Given the description of an element on the screen output the (x, y) to click on. 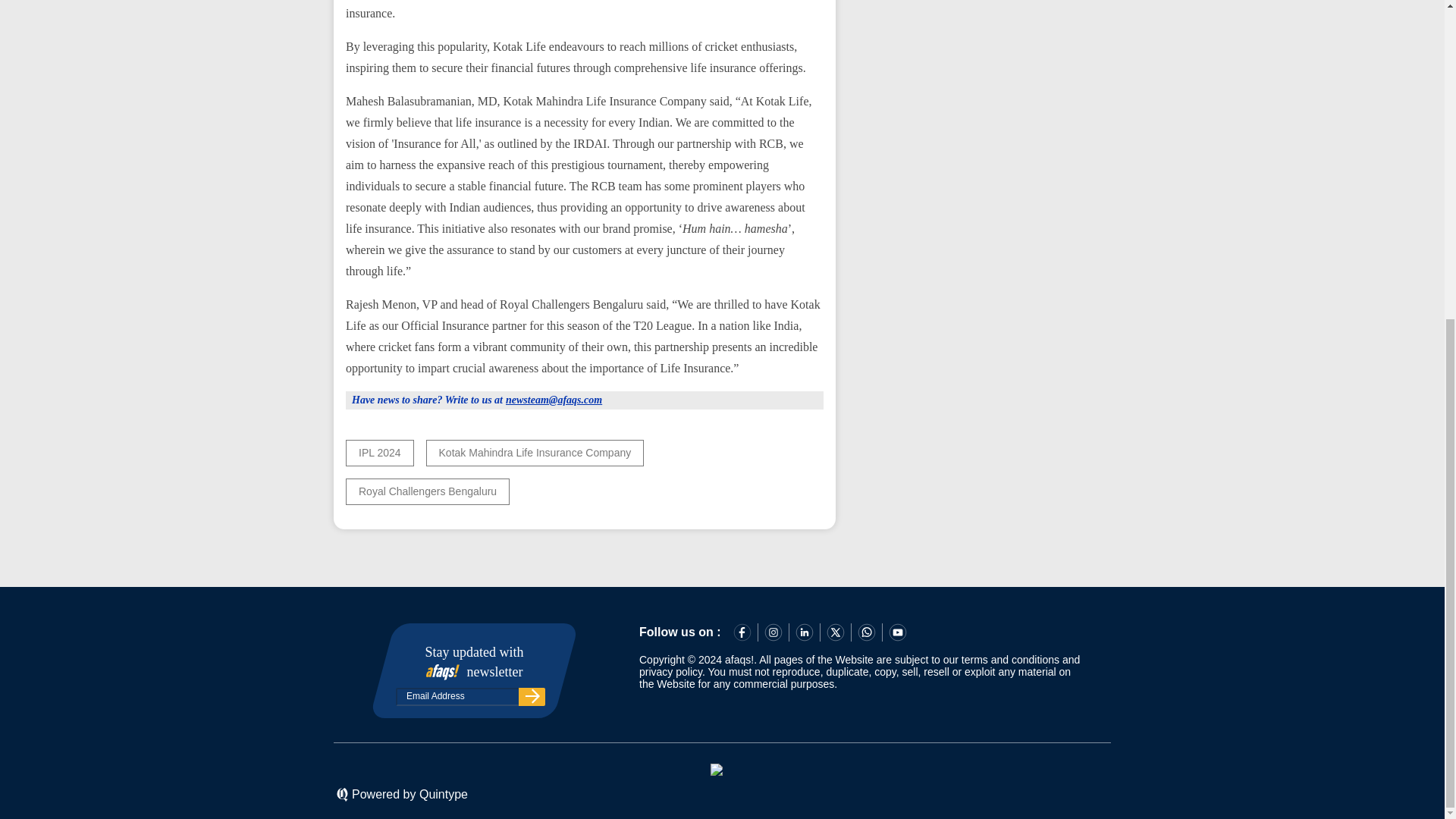
Royal Challengers Bengaluru (427, 491)
Powered by Quintype (409, 794)
Kotak Mahindra Life Insurance Company (535, 452)
IPL 2024 (379, 452)
